Given the description of an element on the screen output the (x, y) to click on. 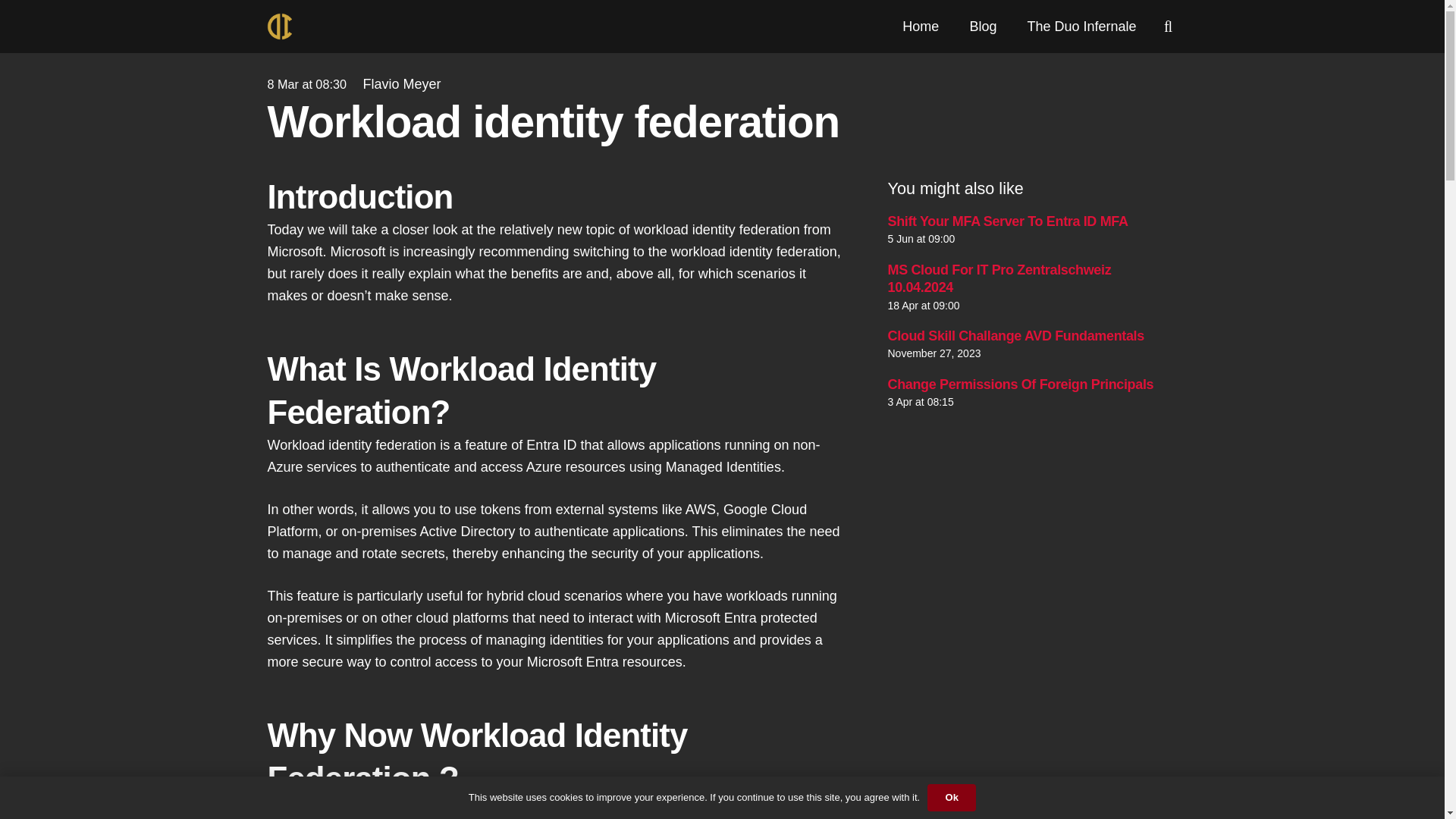
Shift Your MFA Server To Entra ID MFA (1006, 221)
Ok (951, 797)
Cloud Skill Challange AVD Fundamentals (1014, 335)
Flavio Meyer (401, 84)
Change Permissions Of Foreign Principals (1019, 384)
Home (919, 26)
The Duo Infernale (1081, 26)
Blog (982, 26)
MS Cloud For IT Pro Zentralschweiz 10.04.2024 (998, 278)
